Given the description of an element on the screen output the (x, y) to click on. 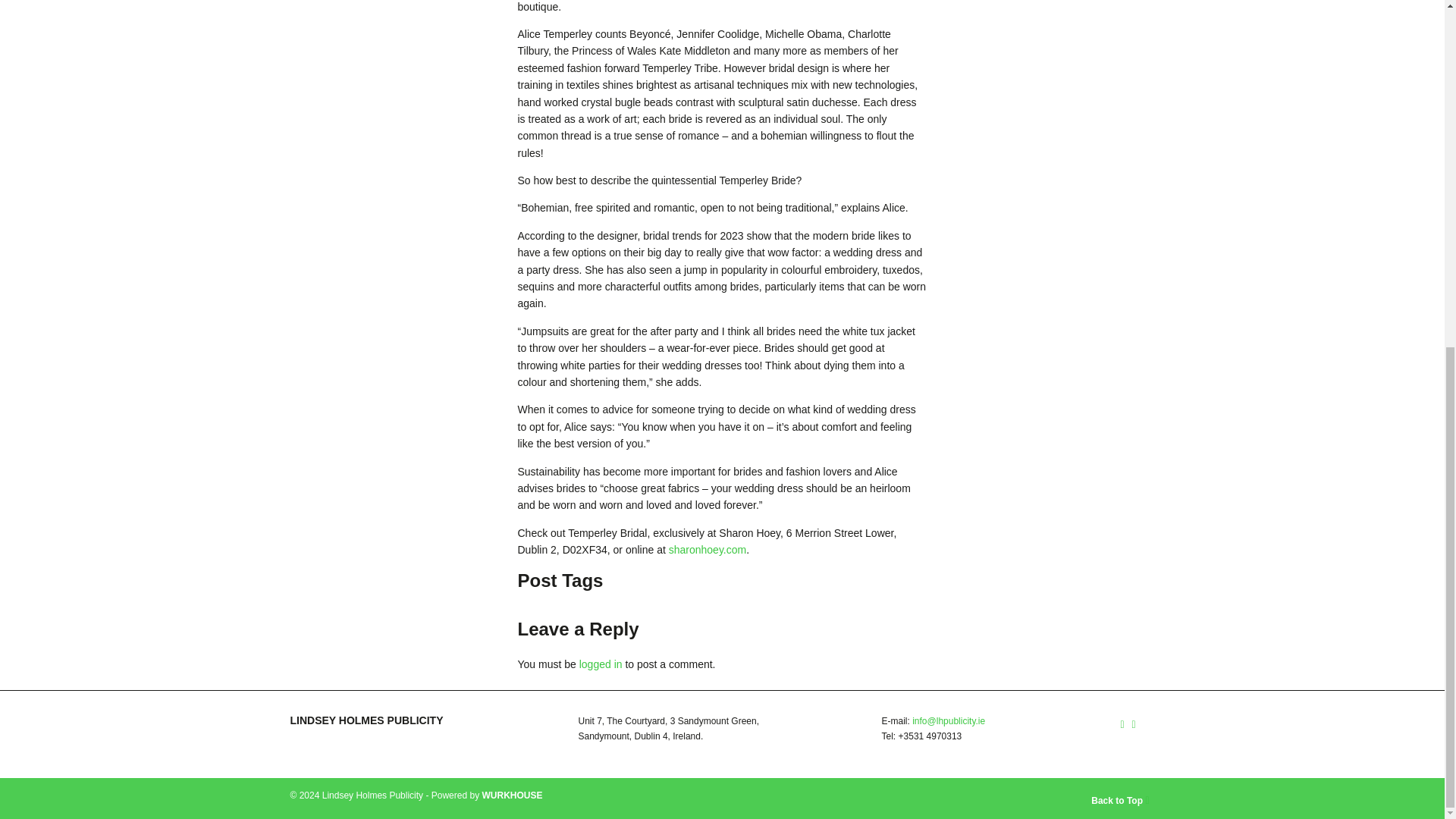
sharonhoey.com (706, 549)
logged in (601, 664)
Back to Top (949, 798)
Powered by (511, 795)
Back to Top (1122, 800)
WURKHOUSE (511, 795)
